Given the description of an element on the screen output the (x, y) to click on. 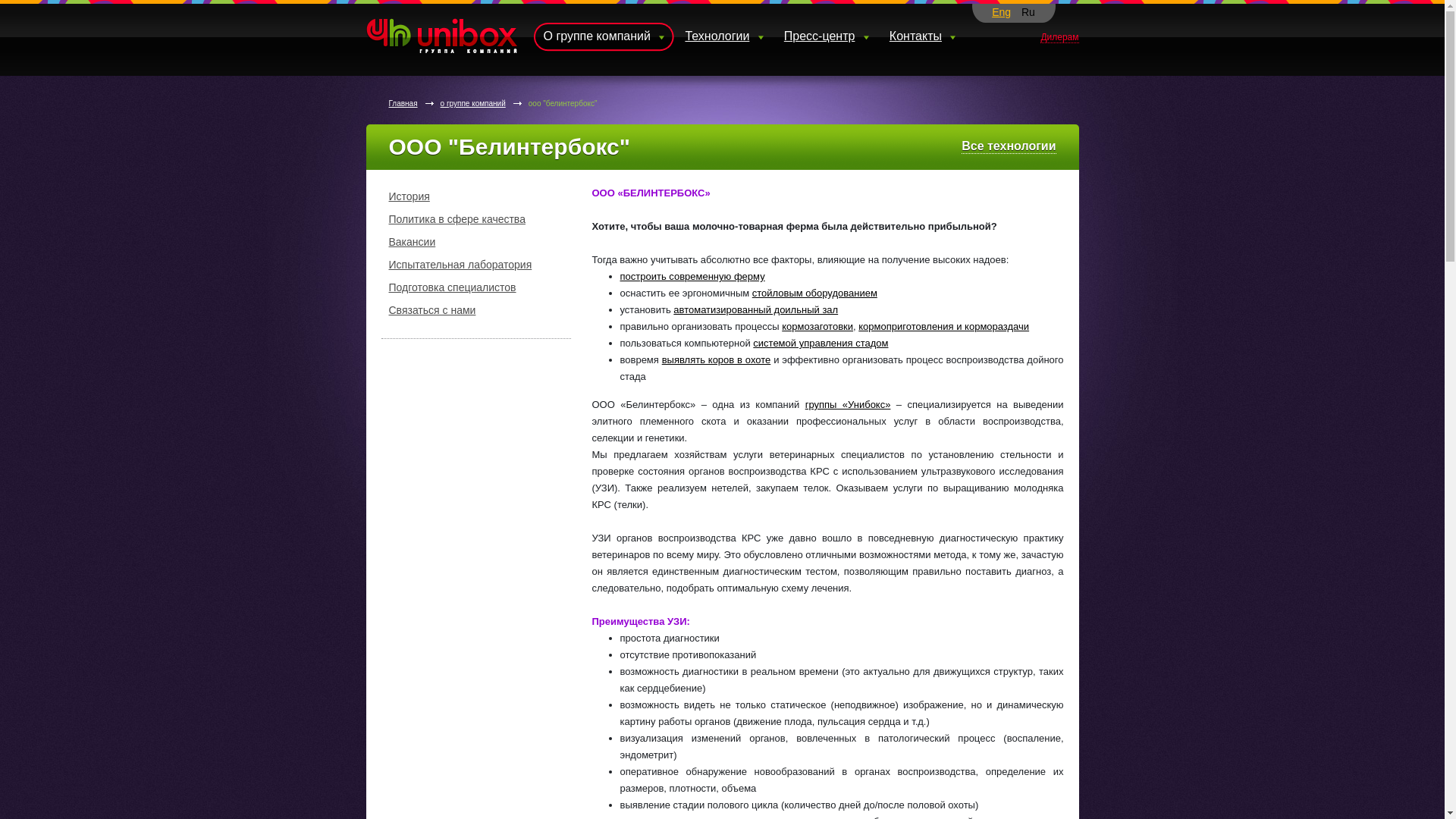
Eng Element type: text (1000, 12)
